Given the description of an element on the screen output the (x, y) to click on. 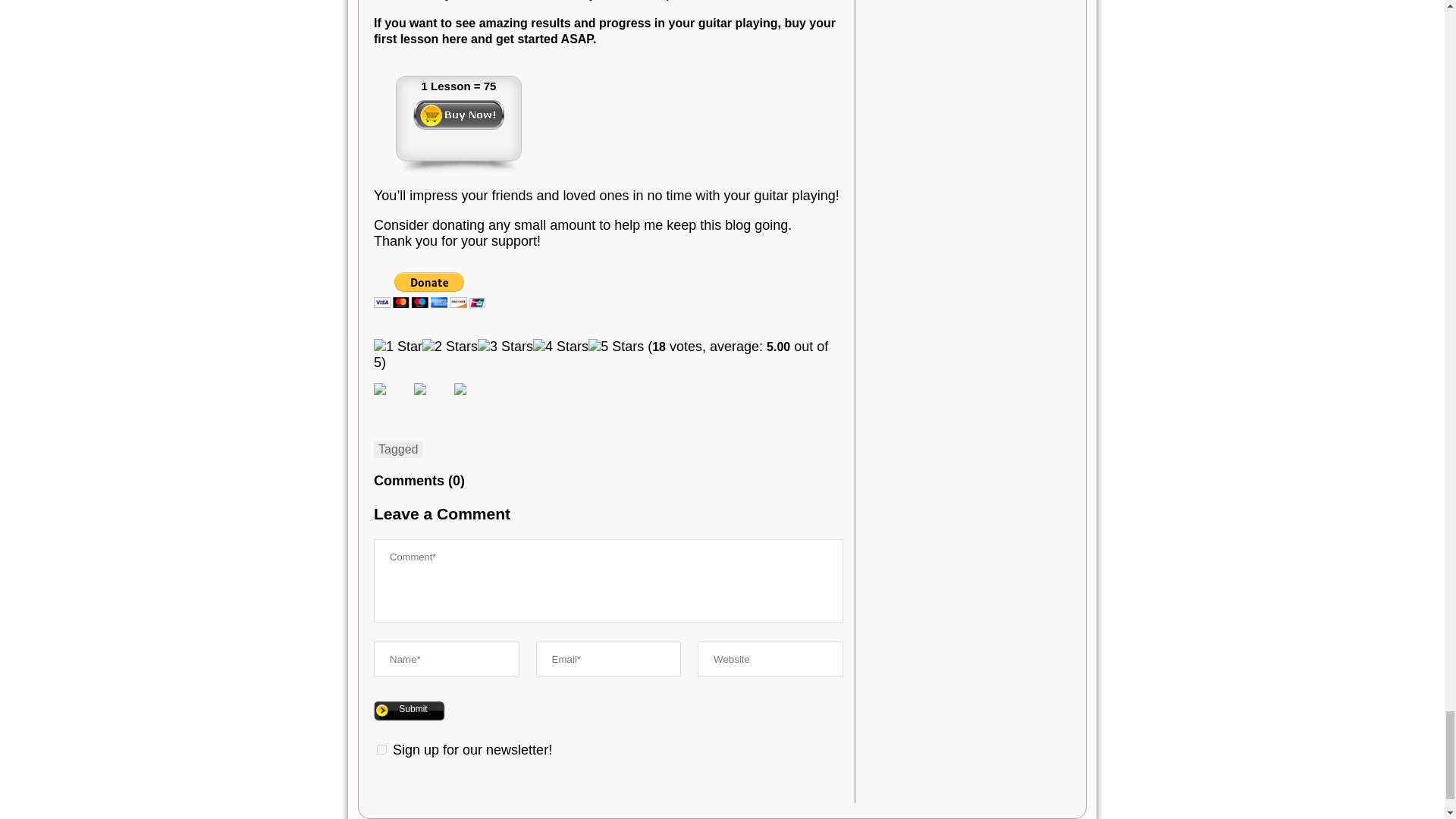
Share on Twitter (431, 401)
4 Stars (560, 346)
3 Stars (504, 346)
5 Stars (615, 346)
1 (382, 749)
2 Stars (449, 346)
Submit (409, 711)
Share on Facebook (379, 388)
Share on Twitter (419, 388)
Share by email (459, 388)
Share on Facebook (392, 401)
1 Star (398, 346)
Share by email (472, 401)
